Given the description of an element on the screen output the (x, y) to click on. 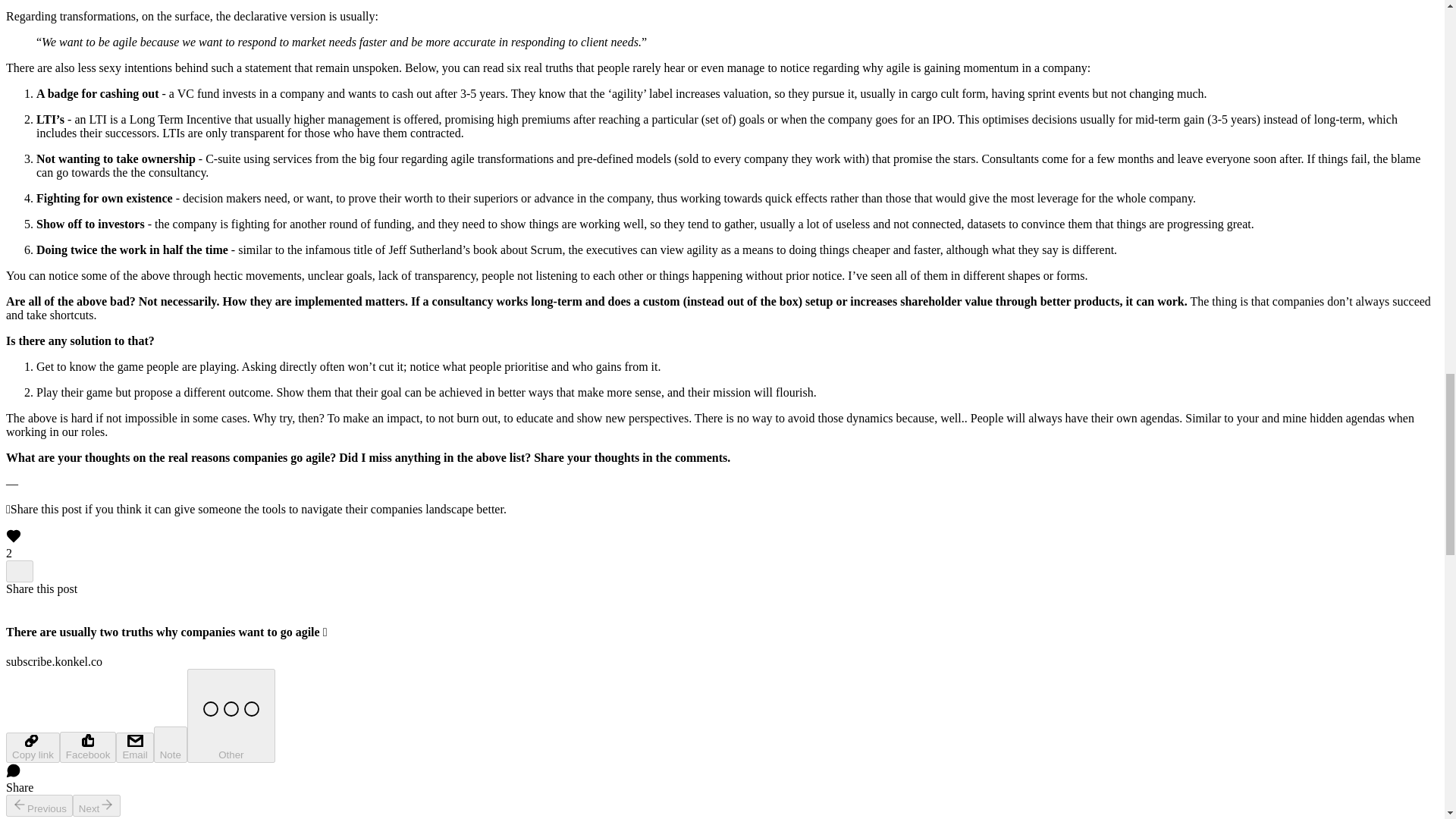
Next (96, 805)
Other (231, 715)
Previous (38, 805)
Email (134, 747)
Note (170, 744)
Facebook (87, 747)
Copy link (32, 747)
